Given the description of an element on the screen output the (x, y) to click on. 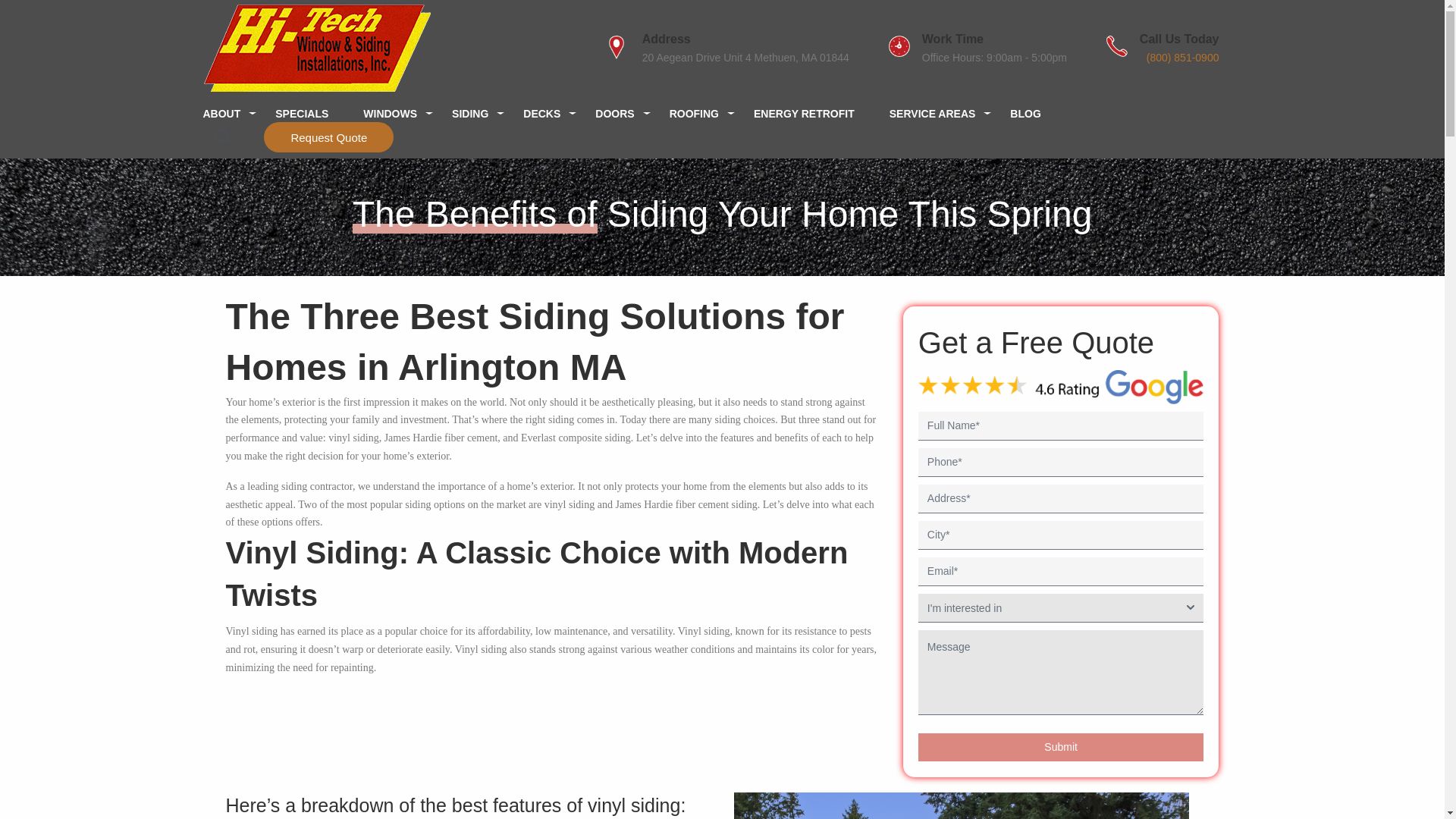
WINDOWS (399, 113)
modern-home-siding (961, 805)
ROOFING (703, 113)
SPECIALS (310, 113)
SIDING (479, 113)
Submit (1061, 747)
ABOUT (235, 113)
DOORS (623, 113)
DECKS (550, 113)
